Given the description of an element on the screen output the (x, y) to click on. 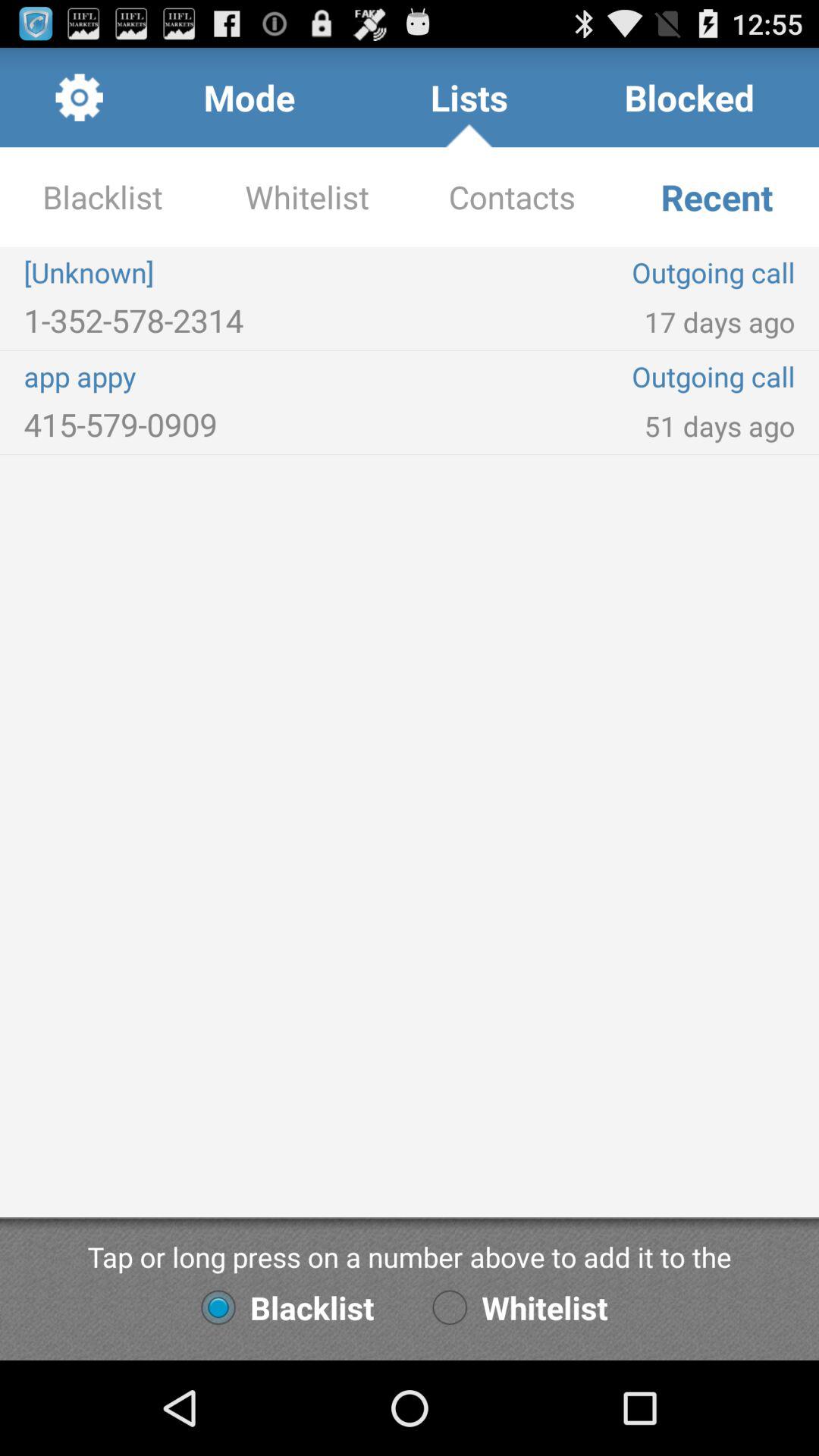
turn off item to the left of contacts (216, 272)
